Given the description of an element on the screen output the (x, y) to click on. 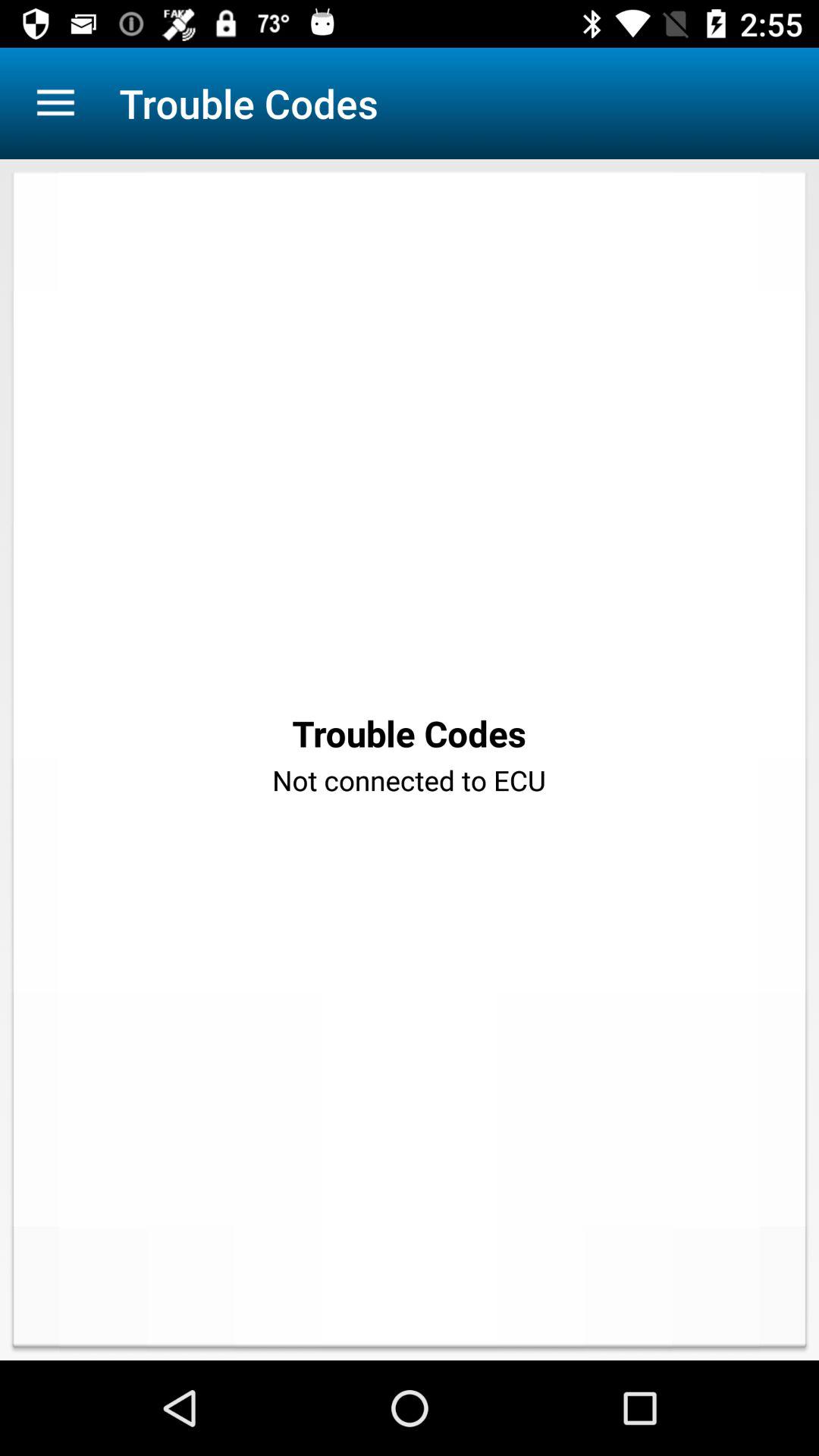
tap the item to the left of trouble codes icon (55, 103)
